Given the description of an element on the screen output the (x, y) to click on. 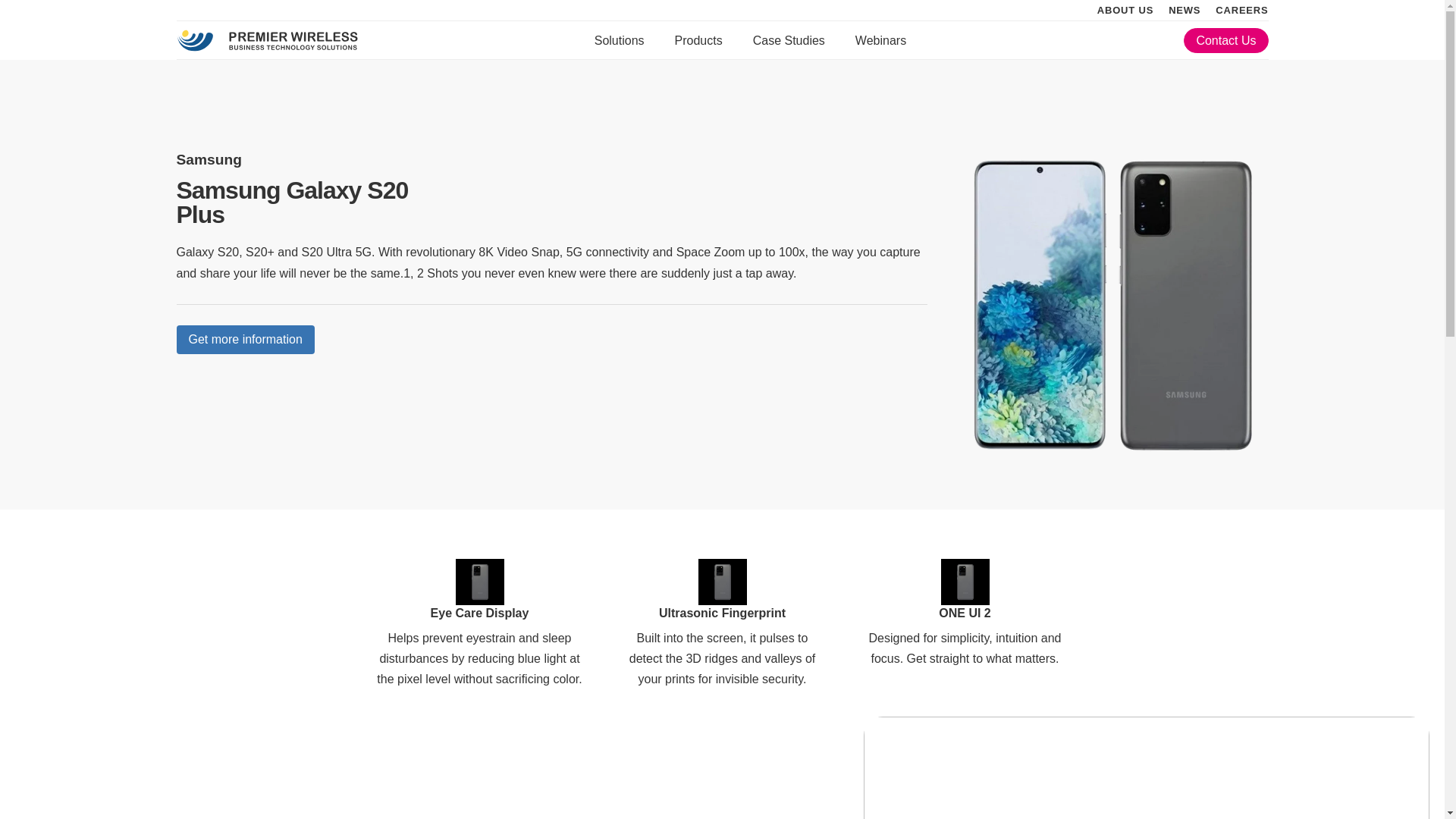
Contact Us (1225, 40)
Solutions (619, 40)
CAREERS (1241, 9)
NEWS (1184, 9)
Products (698, 40)
ABOUT US (1125, 9)
Case Studies (788, 40)
Get more information (245, 339)
Webinars (880, 40)
